Given the description of an element on the screen output the (x, y) to click on. 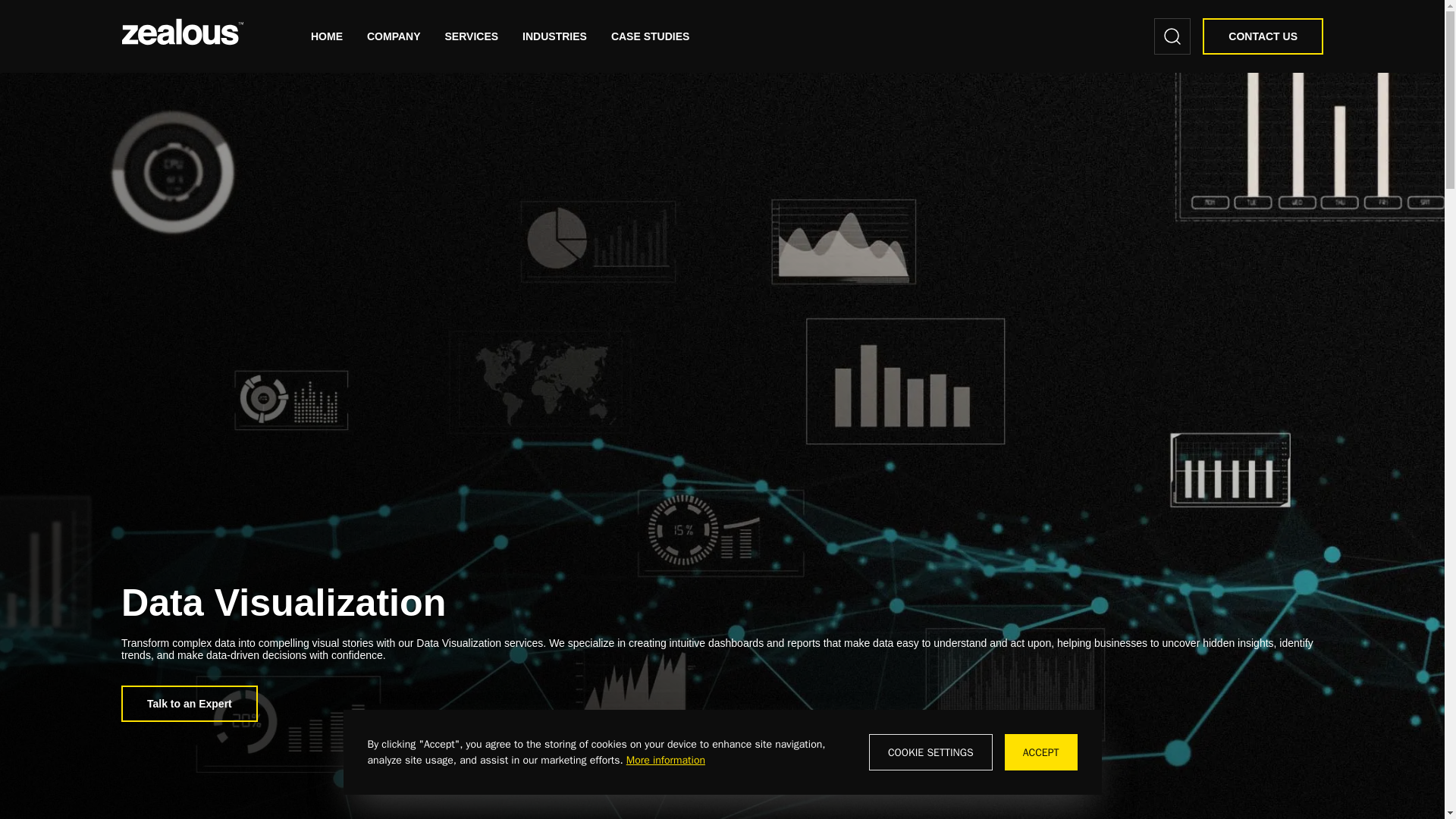
SERVICES (472, 36)
INDUSTRIES (554, 36)
CONTACT US (1262, 36)
HOME (326, 36)
COMPANY (393, 36)
CASE STUDIES (649, 36)
